Given the description of an element on the screen output the (x, y) to click on. 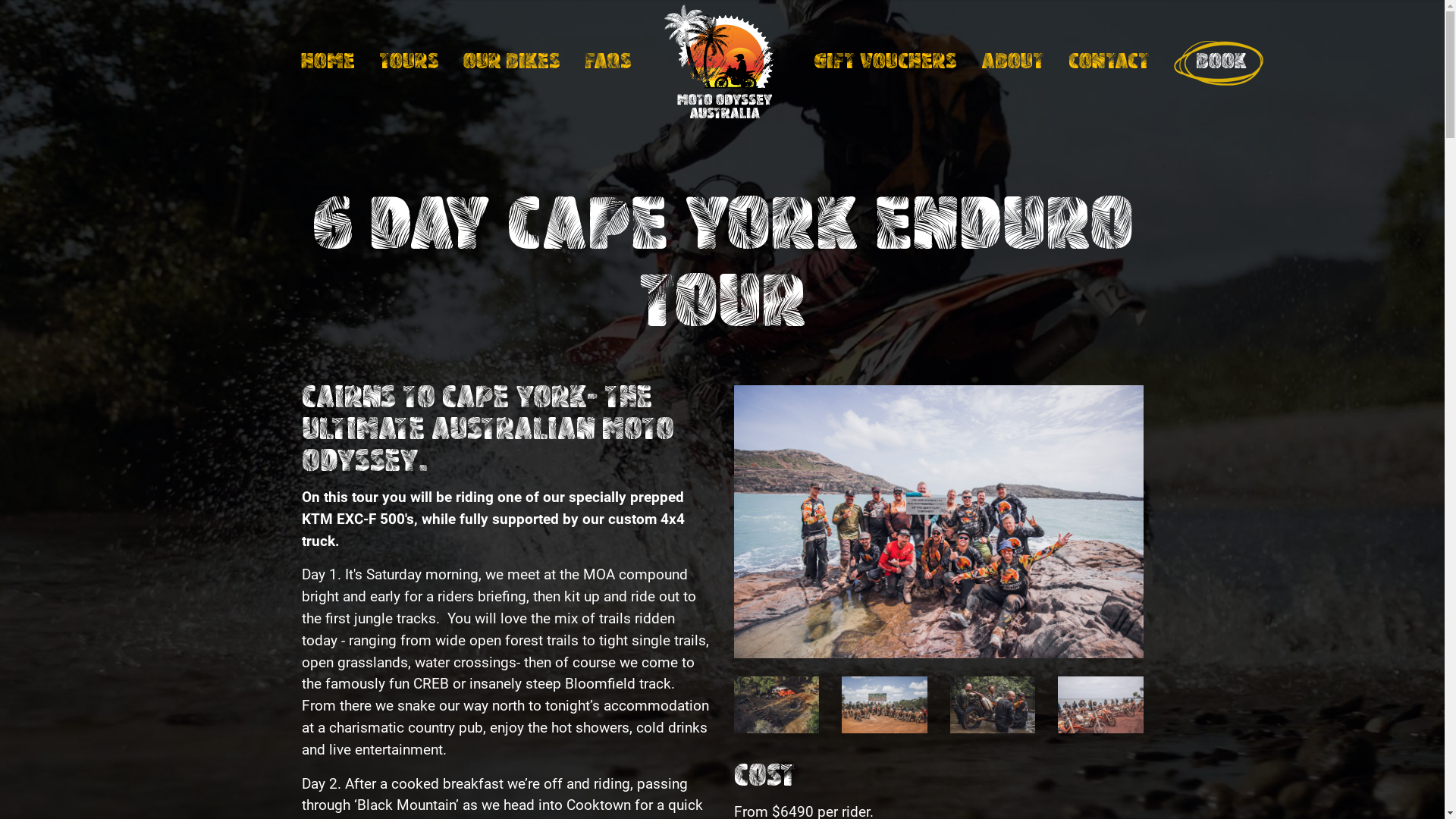
OUR BIKES Element type: text (510, 62)
GIFT VOUCHERS Element type: text (884, 62)
TOURS Element type: text (409, 62)
FAQS Element type: text (607, 62)
BOOK Element type: text (1212, 62)
HOME Element type: text (327, 62)
ABOUT Element type: text (1012, 62)
CONTACT Element type: text (1108, 62)
